Given the description of an element on the screen output the (x, y) to click on. 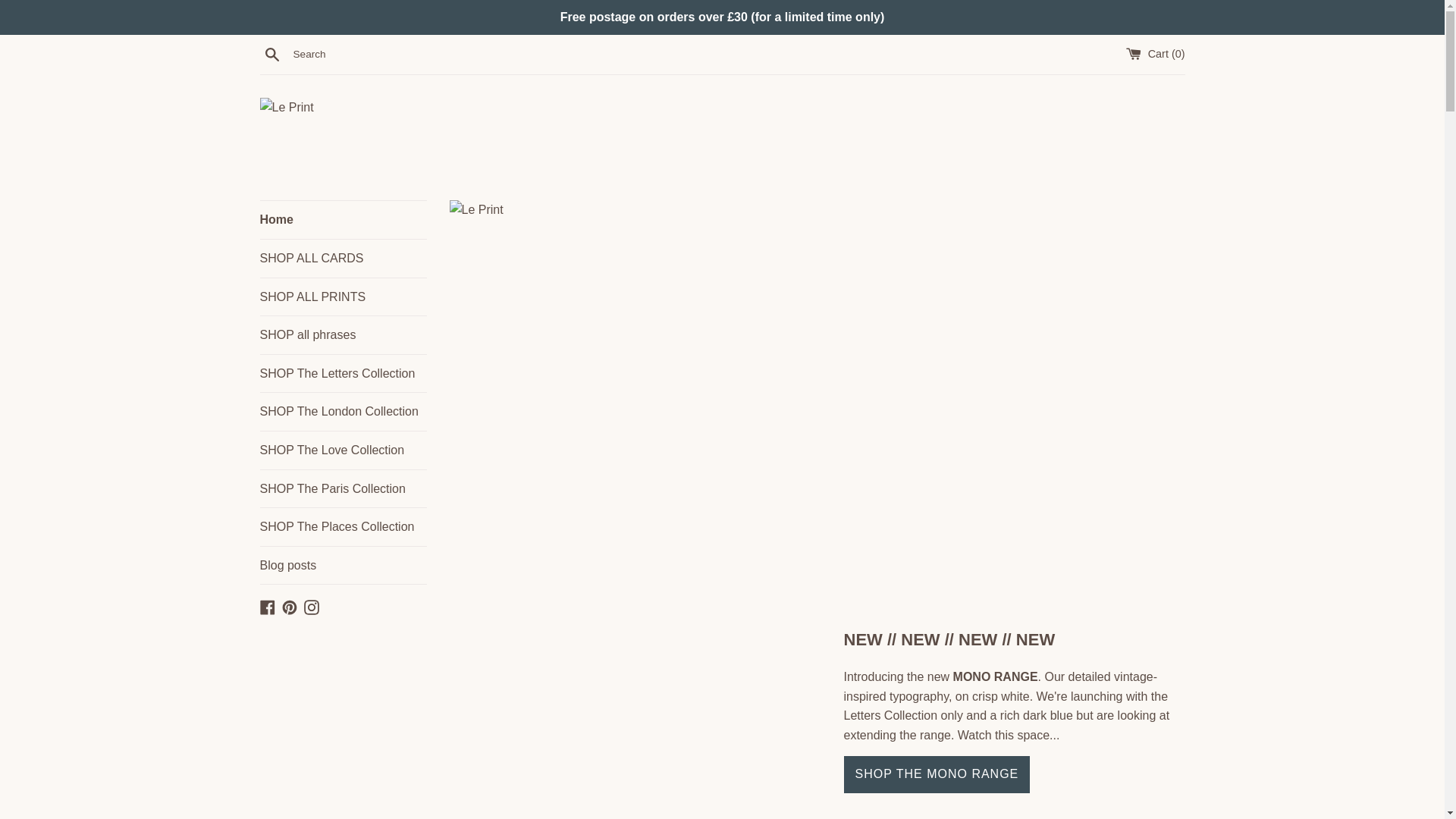
SHOP ALL PRINTS (342, 297)
Le Print on Pinterest (289, 605)
SHOP The Love Collection (342, 450)
Le Print on Instagram (311, 605)
SHOP all phrases (342, 334)
SHOP The Paris Collection (342, 488)
SHOP THE MONO RANGE (936, 773)
Facebook (267, 605)
Search (271, 53)
Blog posts (342, 565)
Home (342, 219)
Le Print on Facebook (267, 605)
SHOP The Letters Collection (342, 373)
SHOP ALL CARDS (342, 258)
SHOP The Places Collection (342, 526)
